Given the description of an element on the screen output the (x, y) to click on. 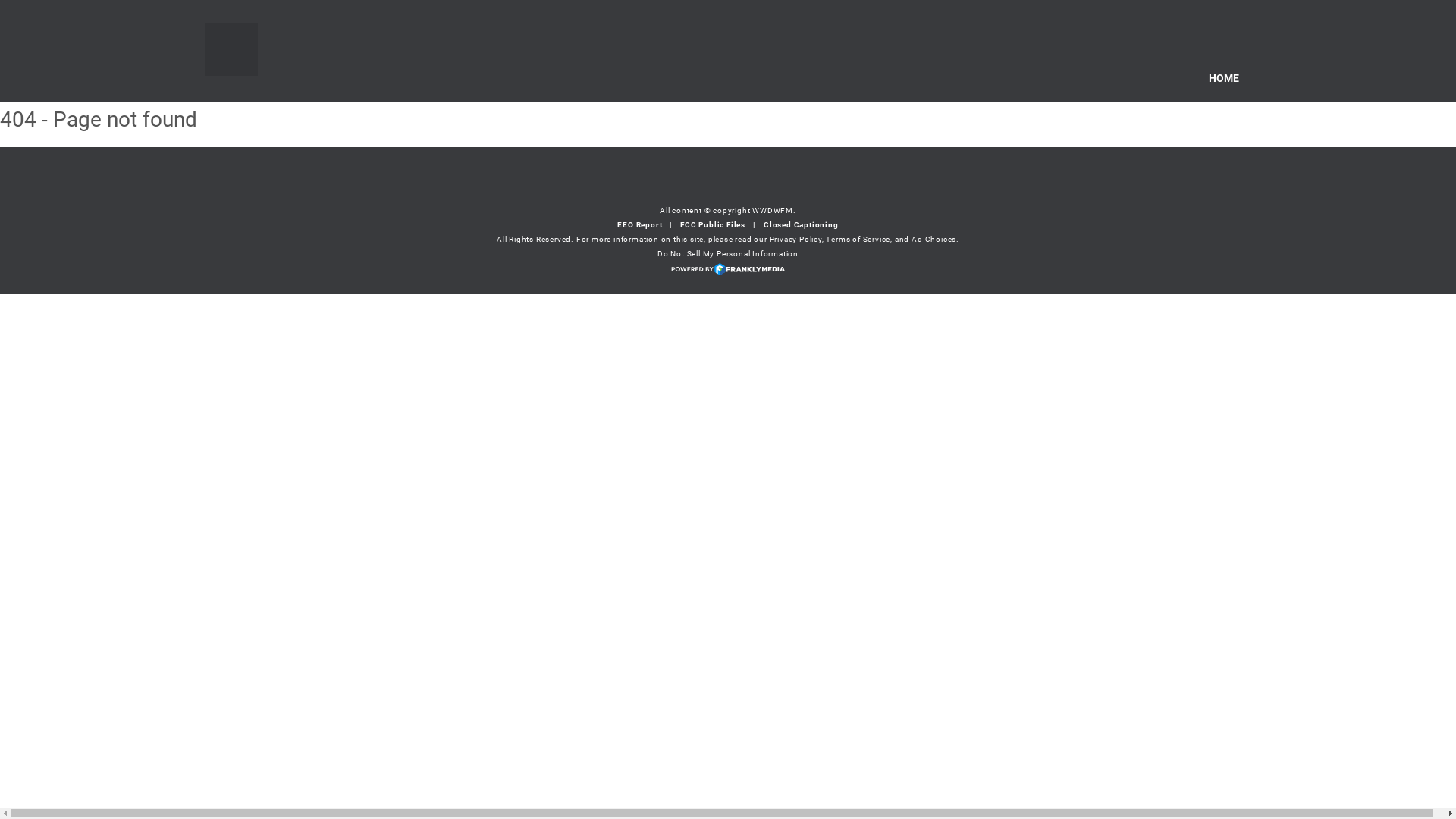
Do Not Sell My Personal Information Element type: text (727, 253)
Terms of Service Element type: text (857, 239)
FCC Public Files Element type: text (712, 224)
Privacy Policy Element type: text (795, 239)
Closed Captioning Element type: text (800, 224)
EEO Report Element type: text (639, 224)
HOME Element type: text (1223, 77)
Ad Choices Element type: text (933, 239)
